Given the description of an element on the screen output the (x, y) to click on. 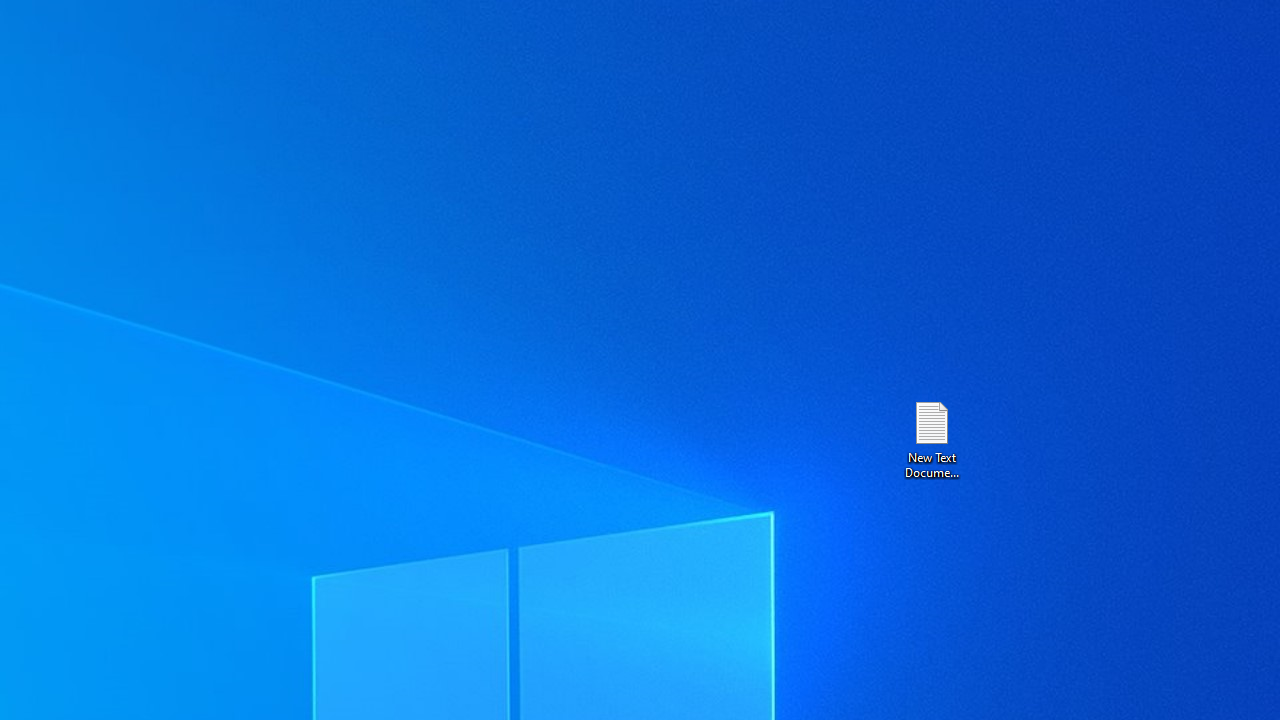
New Text Document (2) (931, 438)
